Given the description of an element on the screen output the (x, y) to click on. 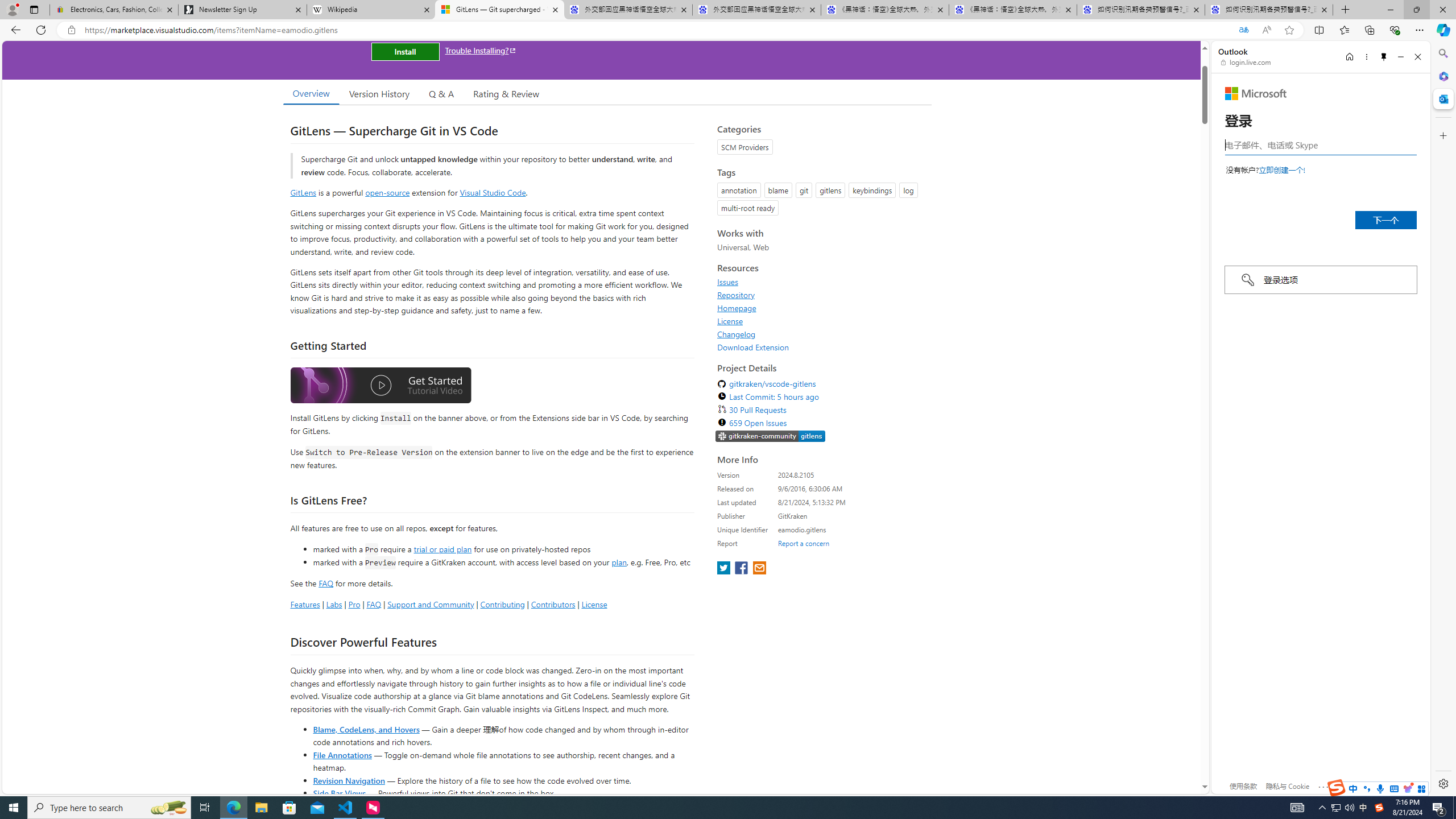
https://slack.gitkraken.com// (769, 436)
Features (304, 603)
share extension on facebook (742, 568)
Newsletter Sign Up (242, 9)
Report a concern (803, 542)
Changelog (736, 333)
